Given the description of an element on the screen output the (x, y) to click on. 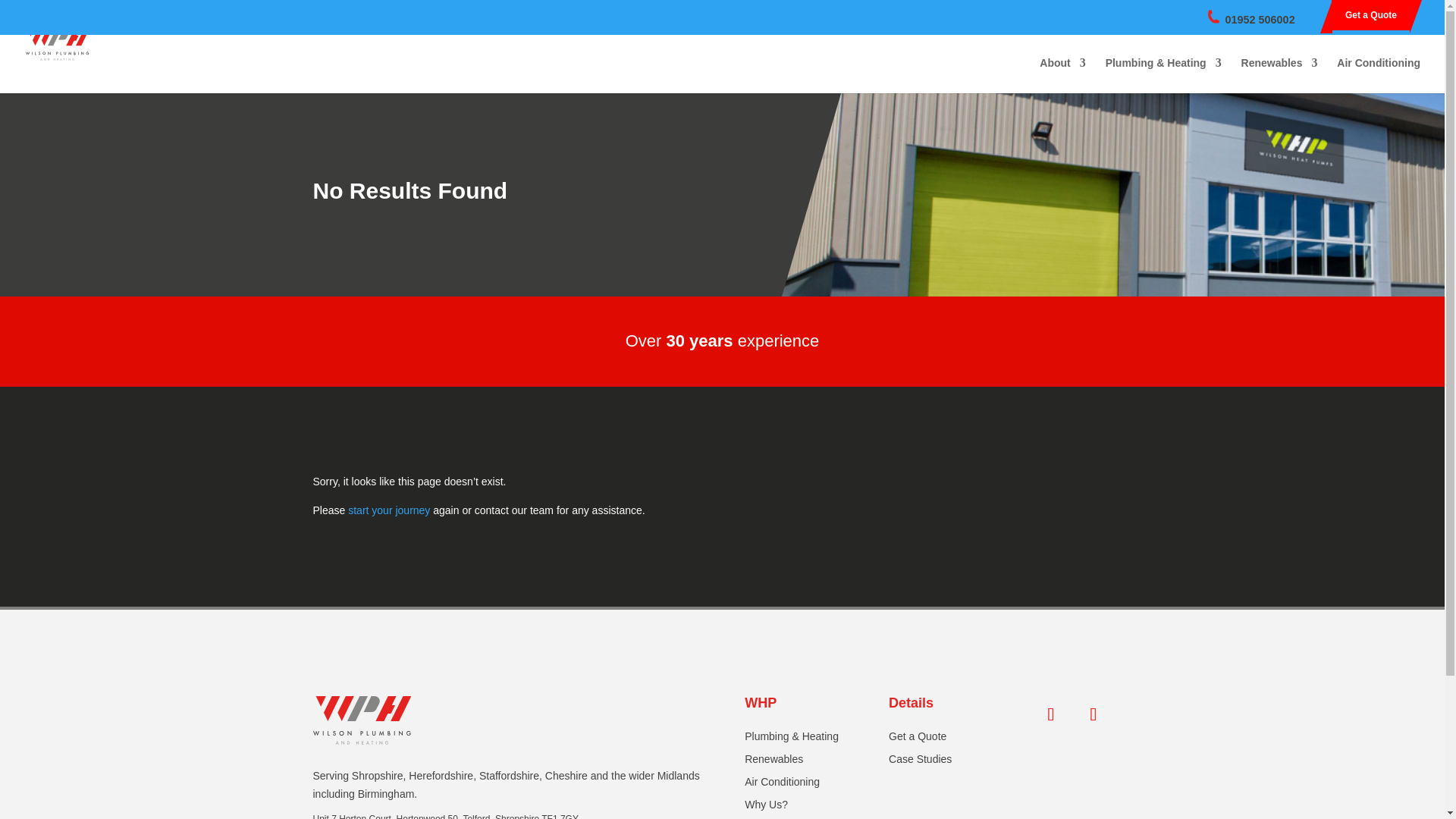
Renewables (1279, 75)
Why Us? (765, 807)
Air Conditioning (781, 784)
Case Studies (920, 761)
About (1061, 75)
Get a Quote (917, 739)
Get a Quote (1371, 15)
start your journey (388, 510)
01952 506002 (1260, 19)
Air Conditioning (1378, 75)
Follow on LinkedIn (1093, 714)
Follow on X (1050, 714)
wph-logo (361, 720)
Renewables (773, 761)
